Given the description of an element on the screen output the (x, y) to click on. 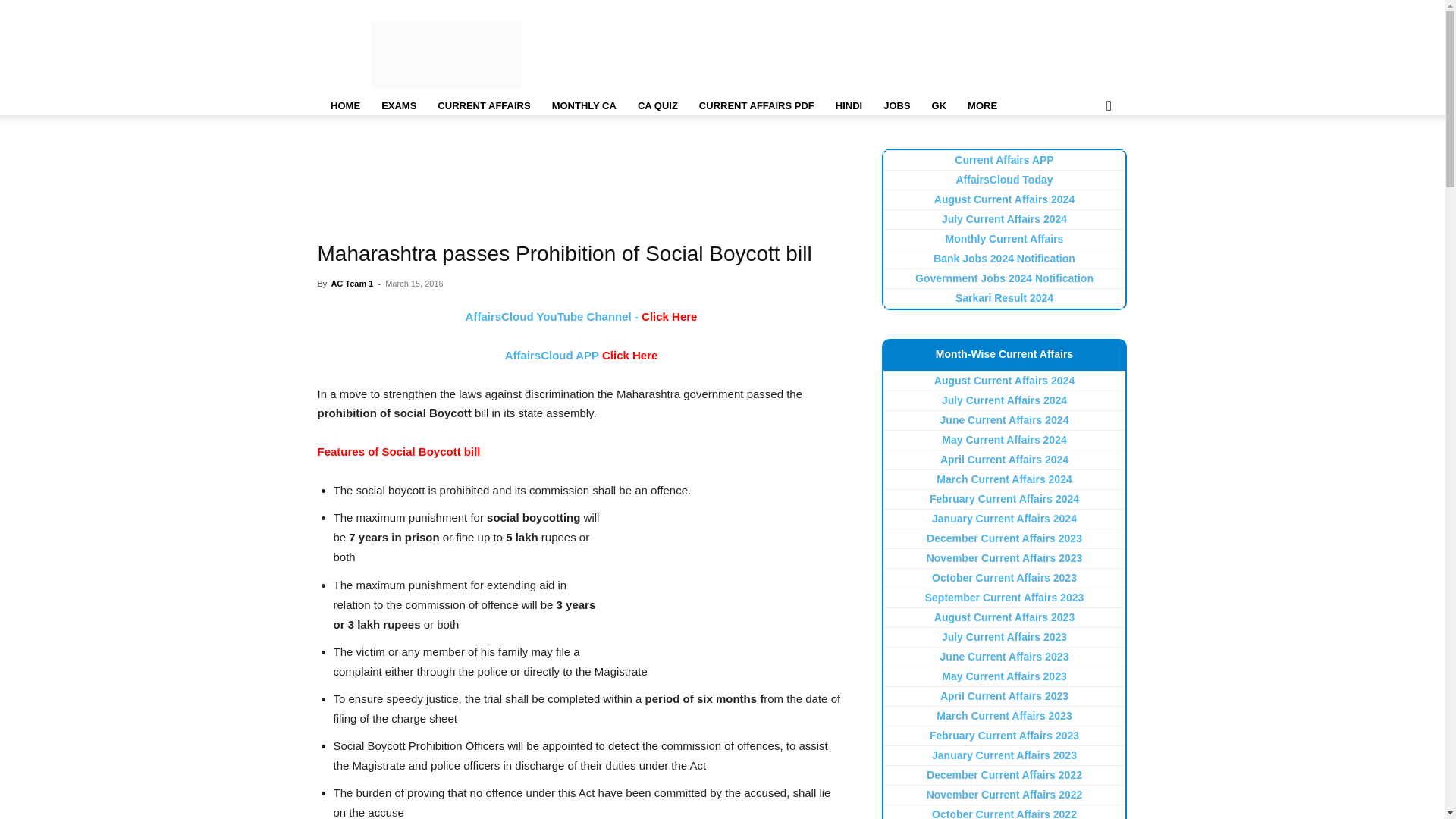
Current Affairs Quiz (657, 105)
Home (344, 105)
Current Affairs (483, 105)
AffairsCloud (446, 55)
Current Affairs PDF (756, 105)
Current Affairs Hindi (848, 105)
